Given the description of an element on the screen output the (x, y) to click on. 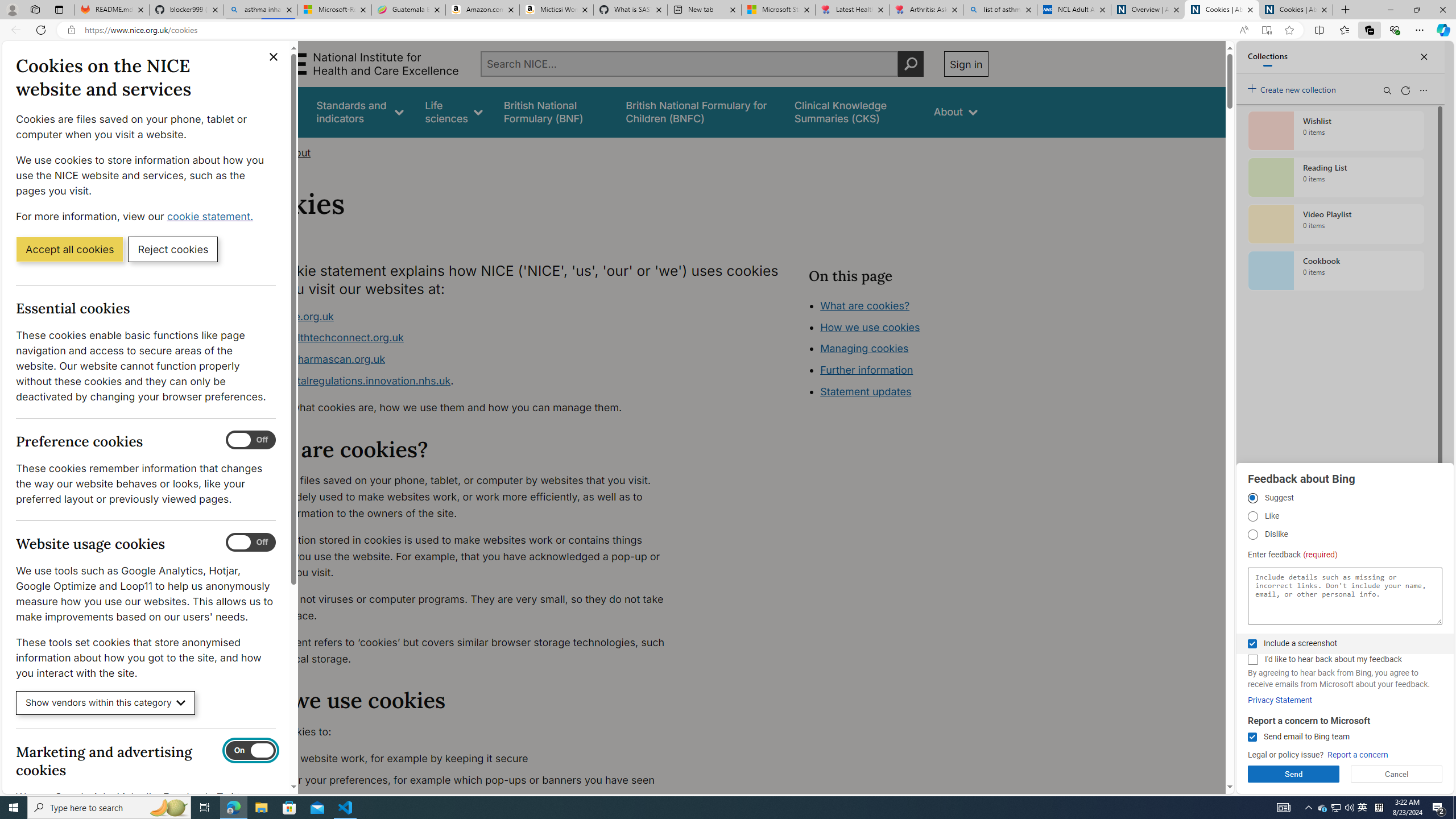
Class: in-page-nav__list (898, 349)
British National Formulary for Children (BNFC) (699, 111)
Sign in (965, 63)
Dislike (1252, 534)
Privacy Statement (1280, 700)
Home> (258, 152)
How we use cookies (869, 327)
false (853, 111)
Address and search bar (658, 29)
Guidance (272, 111)
I'd like to hear back about my feedback (1252, 659)
Microsoft-Report a Concern to Bing (334, 9)
